Given the description of an element on the screen output the (x, y) to click on. 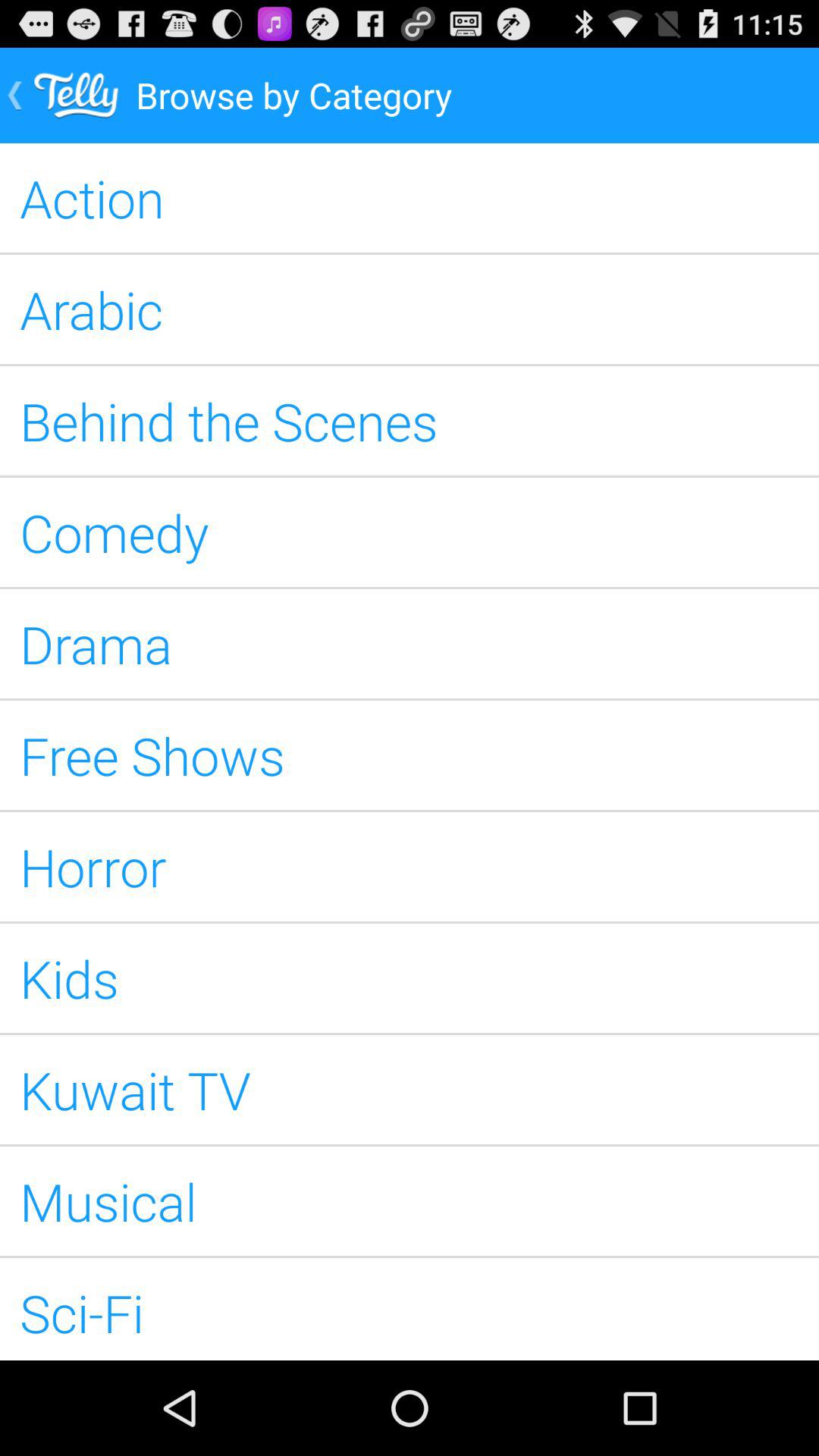
tap the item above musical app (409, 1089)
